Given the description of an element on the screen output the (x, y) to click on. 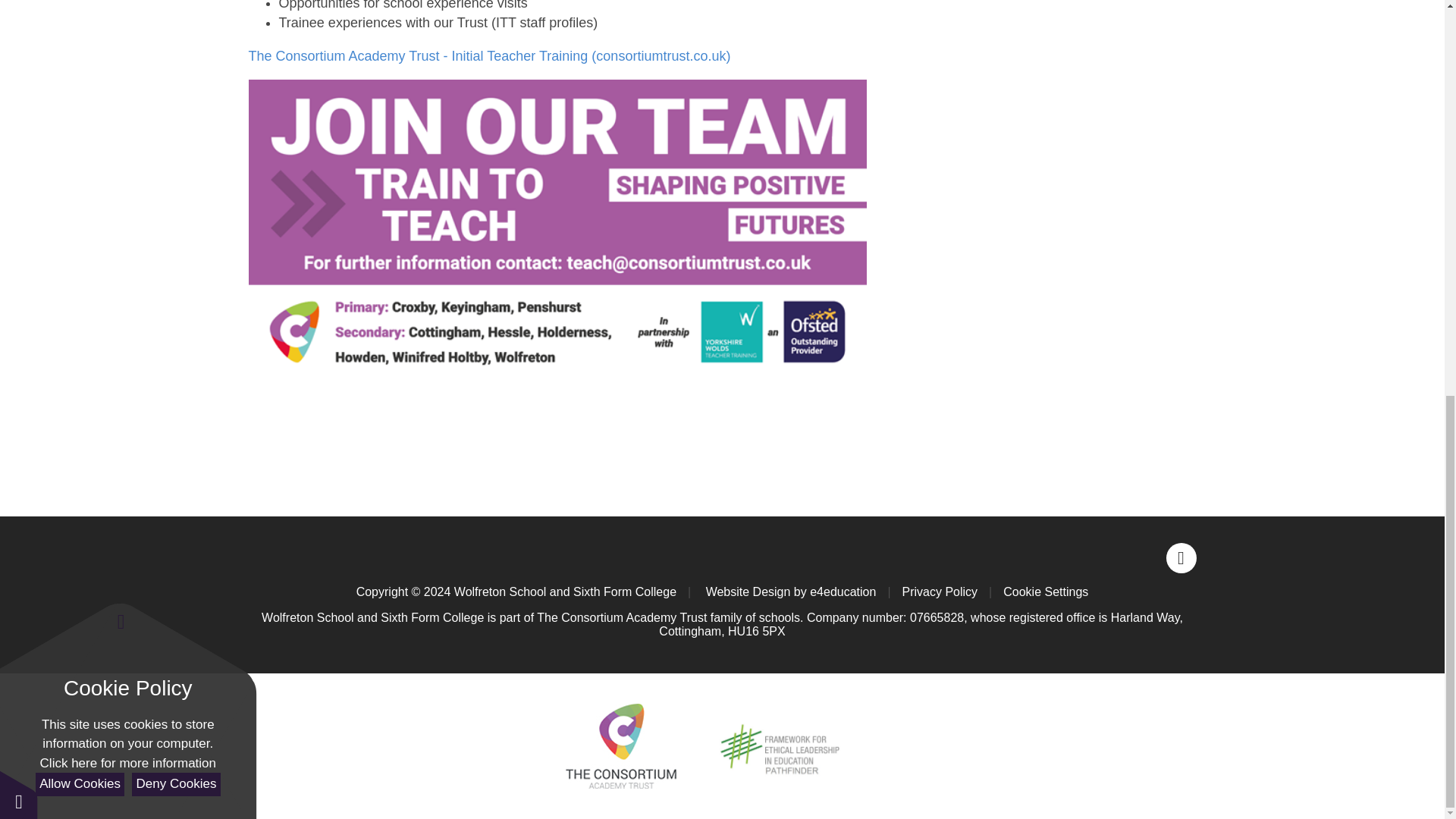
See cookie policy (127, 4)
Cookie Settings (1045, 591)
Allow Cookies (78, 19)
Deny Cookies (175, 19)
Cookie Settings (18, 29)
